Given the description of an element on the screen output the (x, y) to click on. 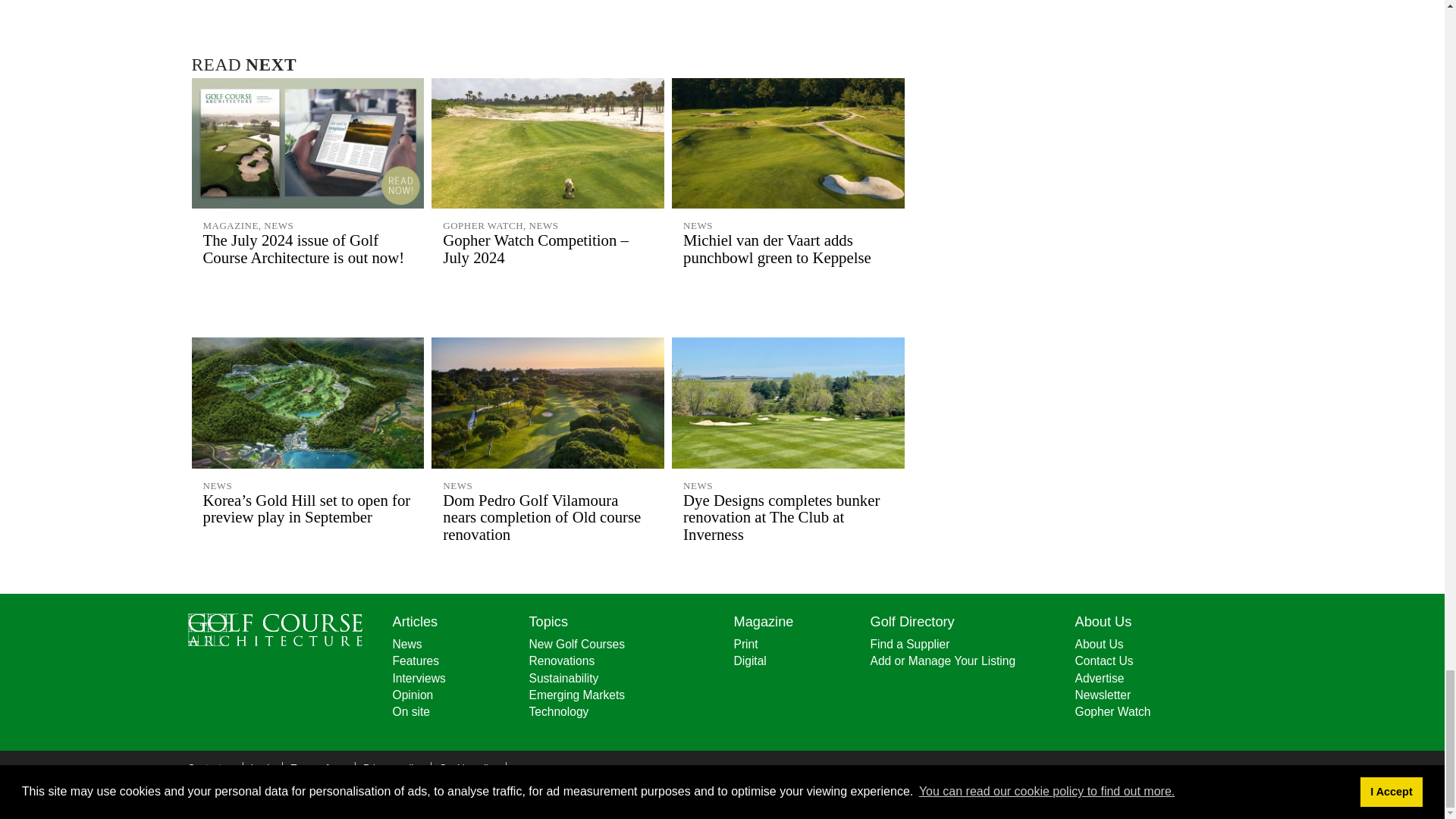
Login (262, 767)
